Given the description of an element on the screen output the (x, y) to click on. 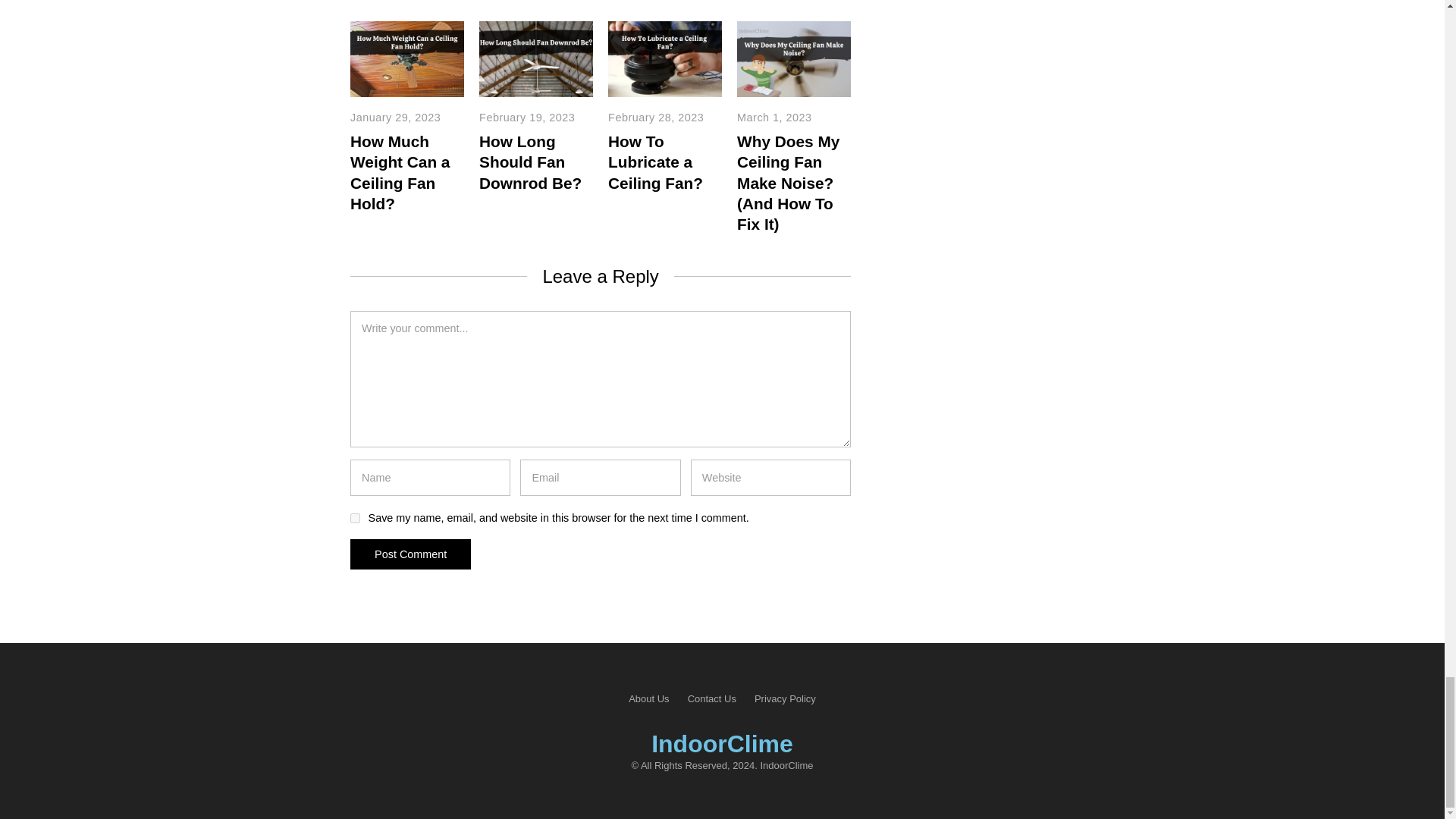
How Much Weight Can a Ceiling Fan Hold? (399, 171)
yes (354, 518)
Post Comment (410, 553)
